Given the description of an element on the screen output the (x, y) to click on. 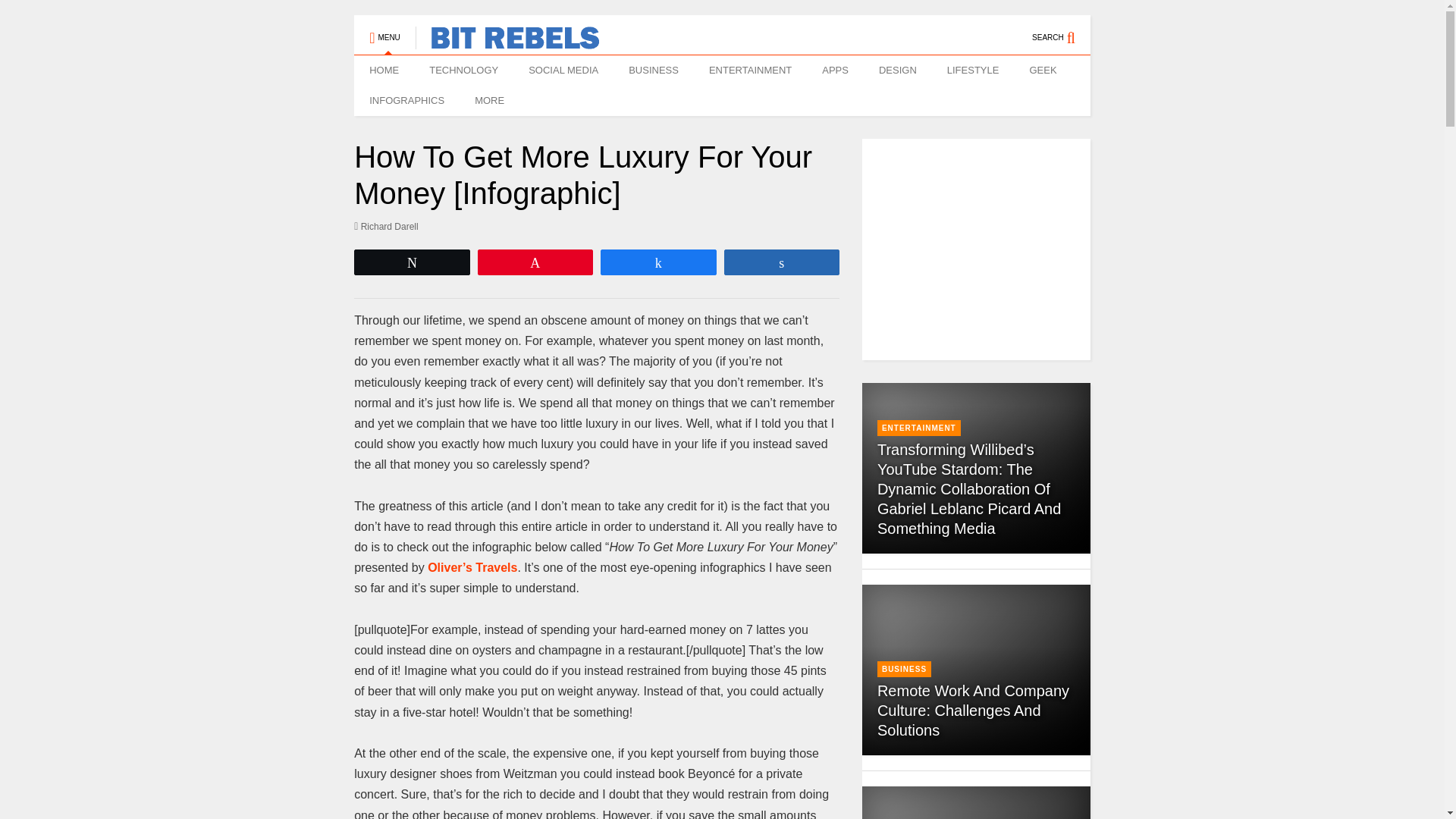
INFOGRAPHICS (406, 100)
Richard Darell (386, 226)
Bit Rebels (506, 42)
ENTERTAINMENT (919, 428)
GEEK (1042, 70)
Richard Darell (386, 226)
ENTERTAINMENT (750, 70)
MENU (383, 30)
Remote Work And Company Culture: Challenges And Solutions (972, 710)
APPS (834, 70)
BUSINESS (653, 70)
SOCIAL MEDIA (562, 70)
SEARCH (1061, 30)
DESIGN (897, 70)
MORE (493, 100)
